Given the description of an element on the screen output the (x, y) to click on. 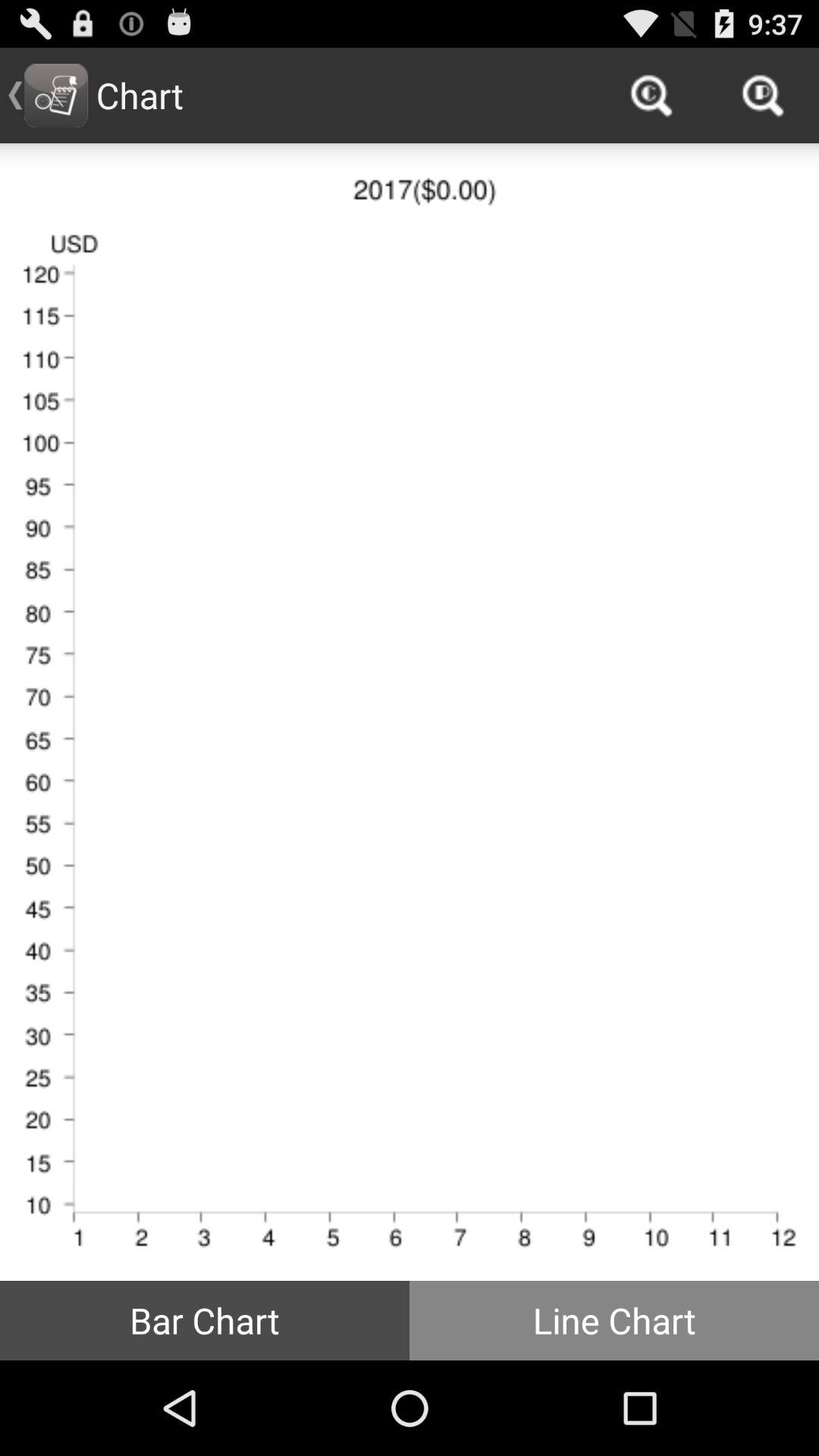
select icon to the right of bar chart icon (614, 1320)
